Given the description of an element on the screen output the (x, y) to click on. 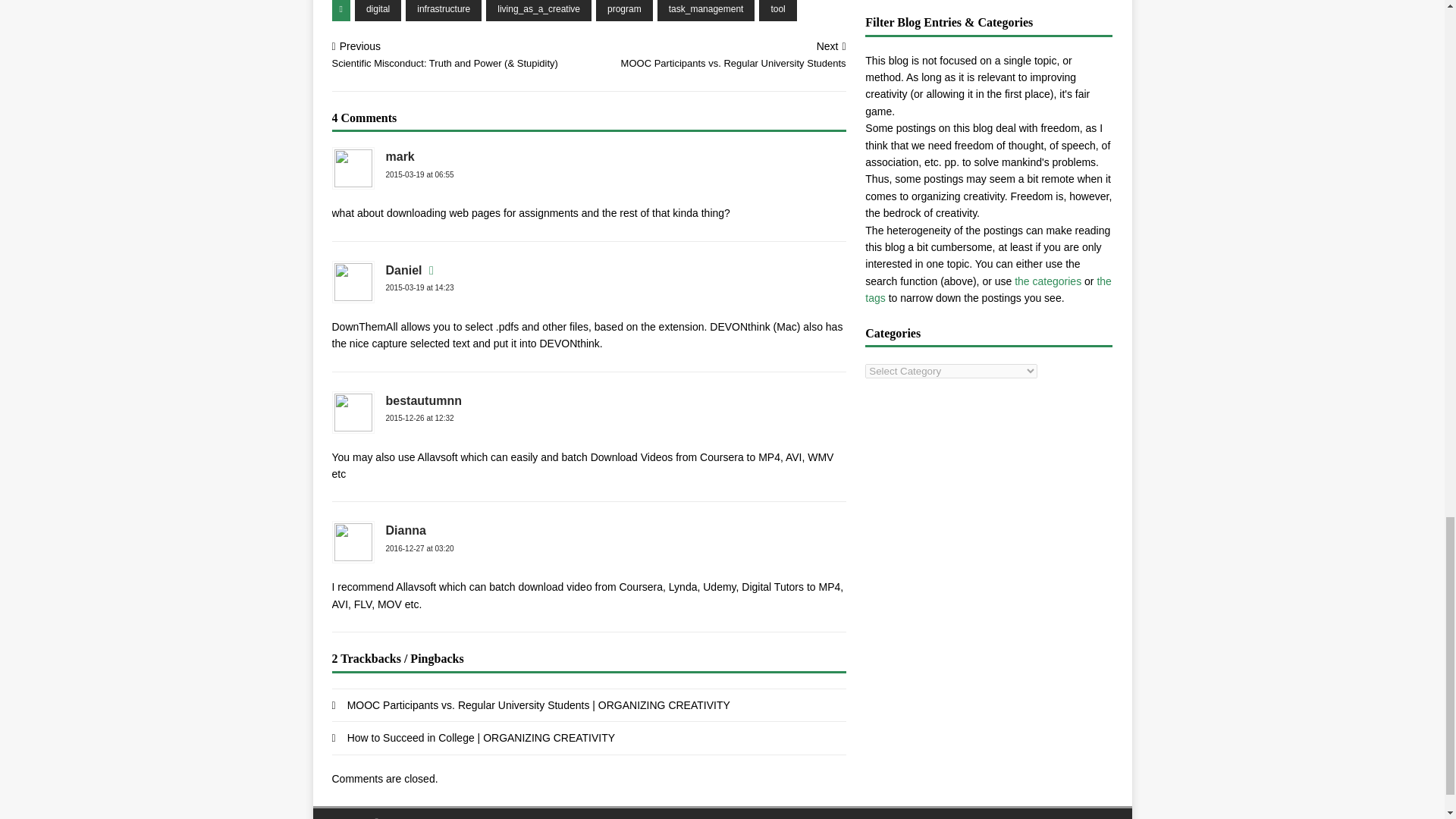
program (623, 10)
infrastructure (443, 10)
digital (378, 10)
tool (777, 10)
